Given the description of an element on the screen output the (x, y) to click on. 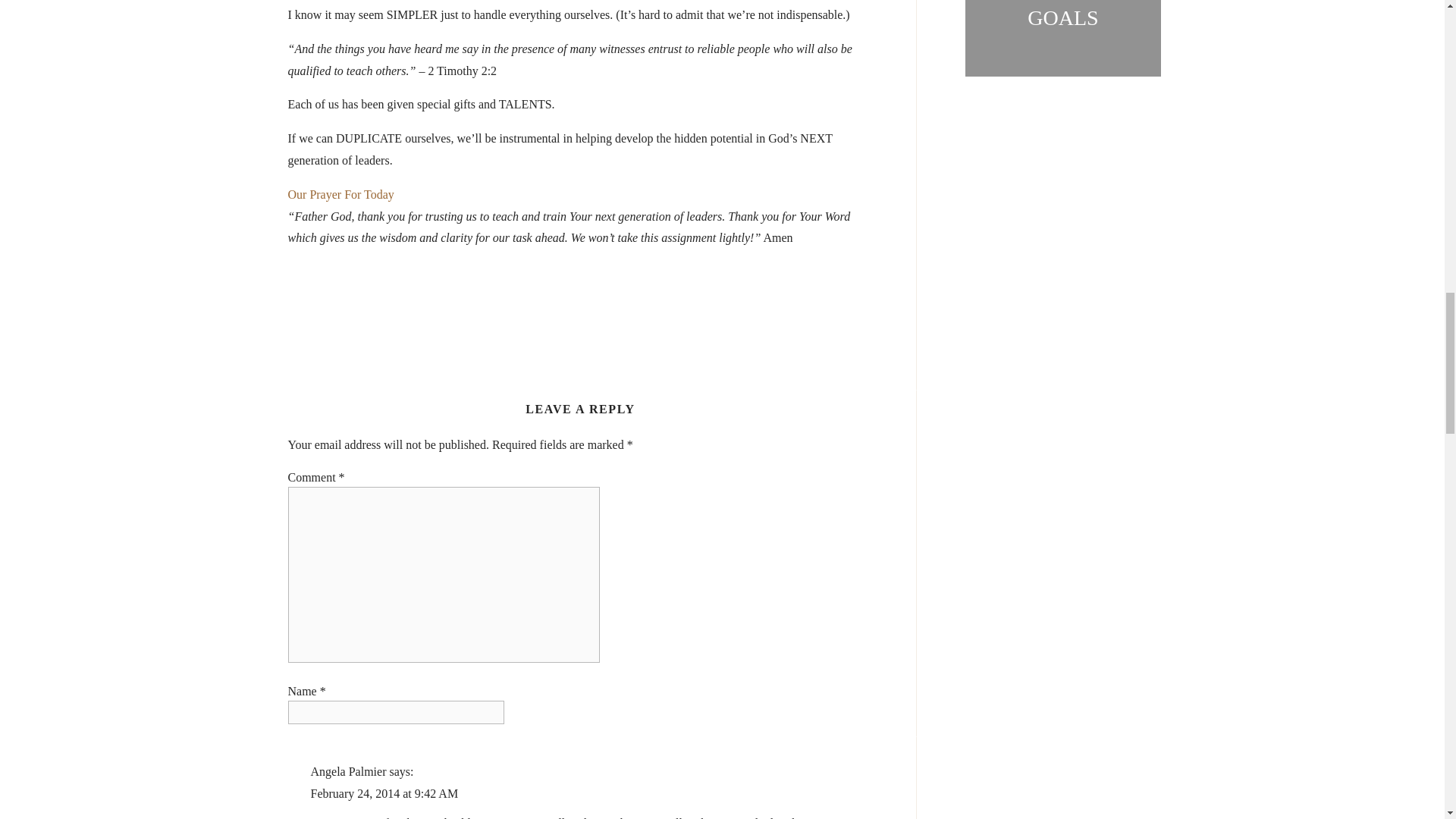
GOALS (1062, 17)
February 24, 2014 at 9:42 AM (384, 793)
